Given the description of an element on the screen output the (x, y) to click on. 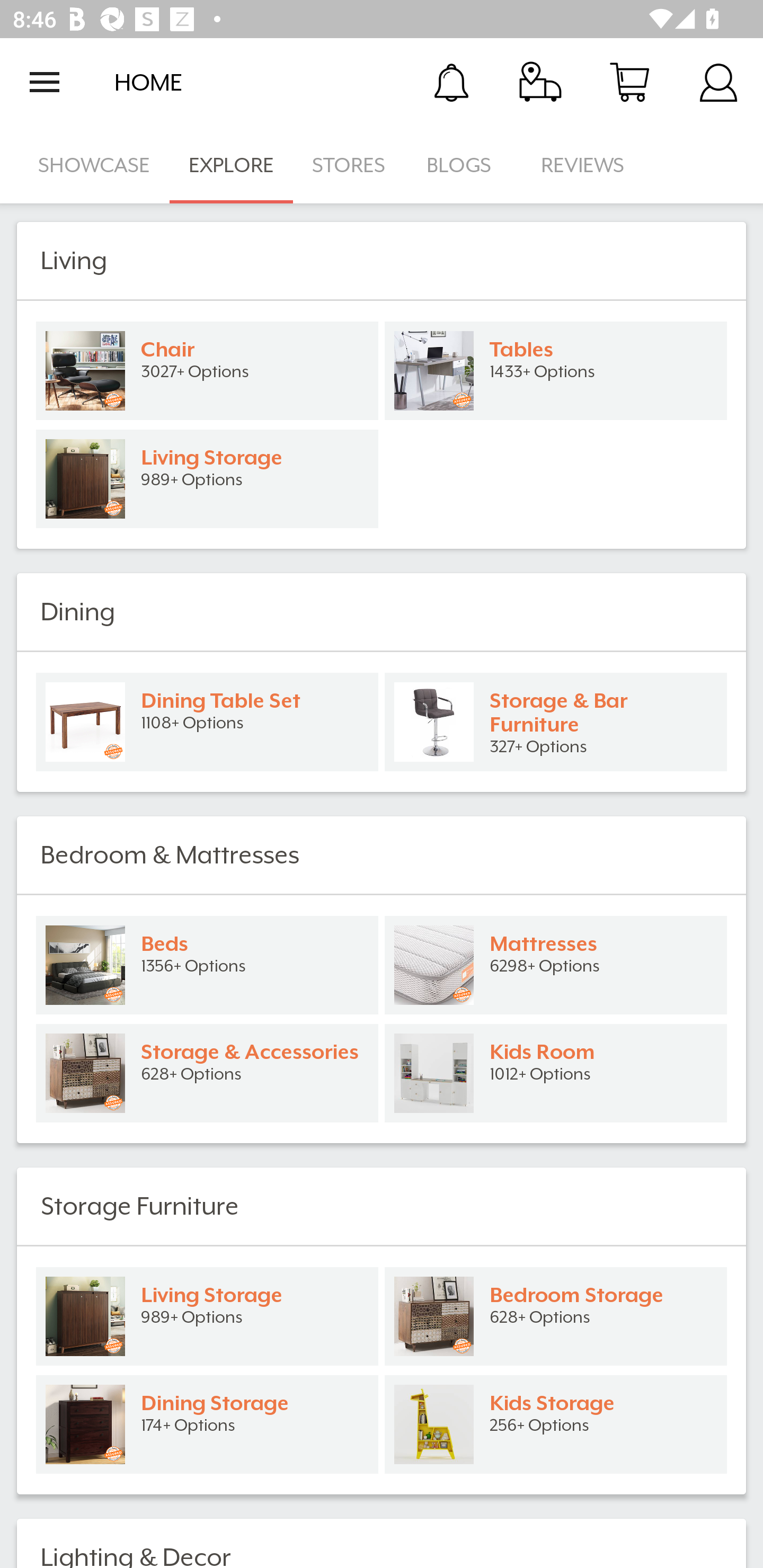
Open navigation drawer (44, 82)
Notification (450, 81)
Track Order (540, 81)
Cart (629, 81)
Account Details (718, 81)
SHOWCASE (94, 165)
EXPLORE (230, 165)
STORES (349, 165)
BLOGS (464, 165)
REVIEWS (582, 165)
Chair 3027+ Options (206, 370)
Tables 1433+ Options (555, 370)
Living Storage 989+ Options (206, 478)
Dining Table Set 1108+ Options (206, 721)
Storage & Bar Furniture 327+ Options (555, 721)
Beds 1356+ Options (206, 965)
Mattresses 6298+ Options (555, 965)
Storage & Accessories 628+ Options (206, 1073)
Kids Room 1012+ Options (555, 1073)
Living Storage 989+ Options (206, 1316)
Bedroom Storage 628+ Options (555, 1316)
Dining Storage 174+ Options (206, 1424)
Kids Storage 256+ Options (555, 1424)
